Given the description of an element on the screen output the (x, y) to click on. 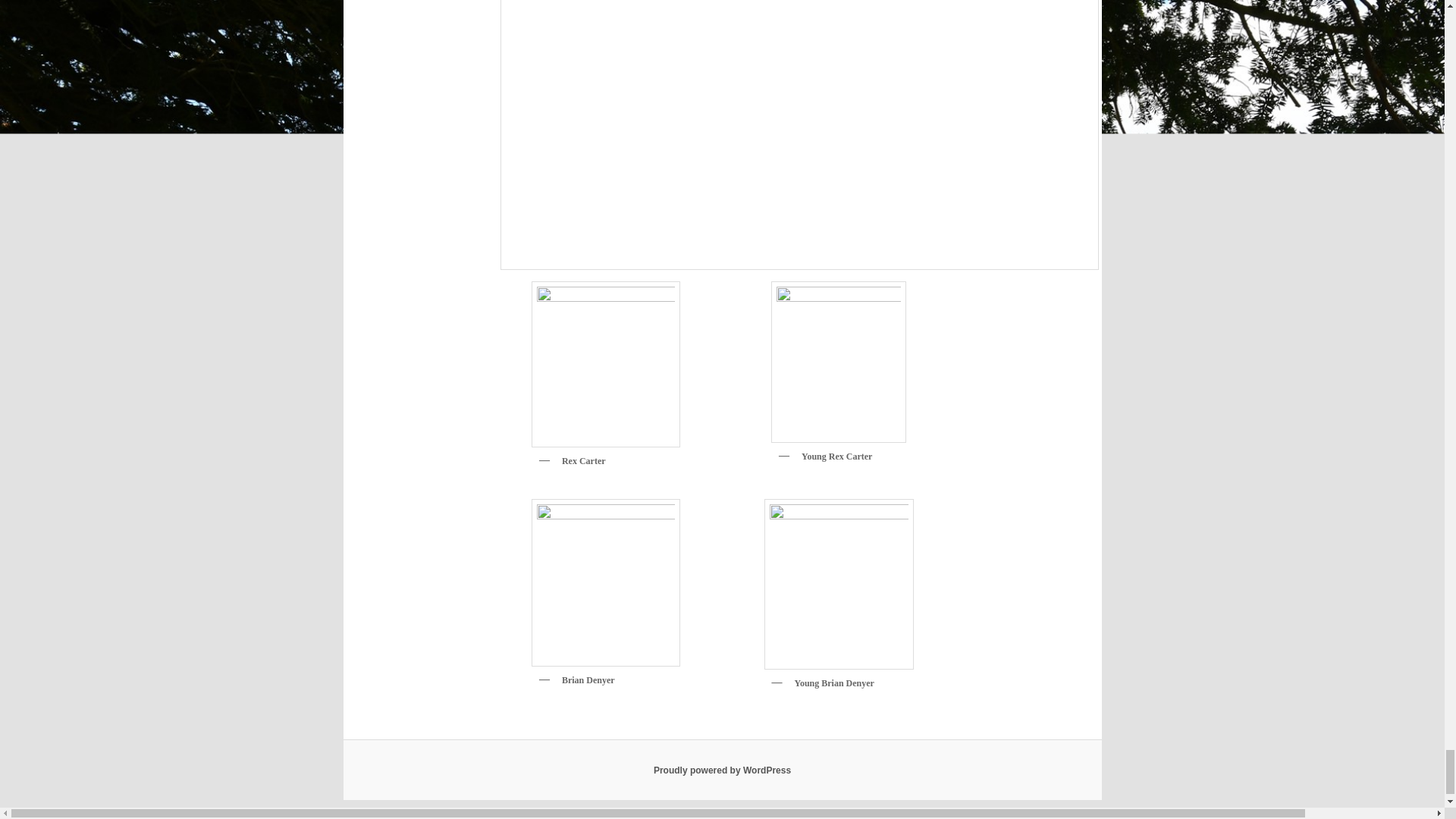
Semantic Personal Publishing Platform (721, 769)
